Given the description of an element on the screen output the (x, y) to click on. 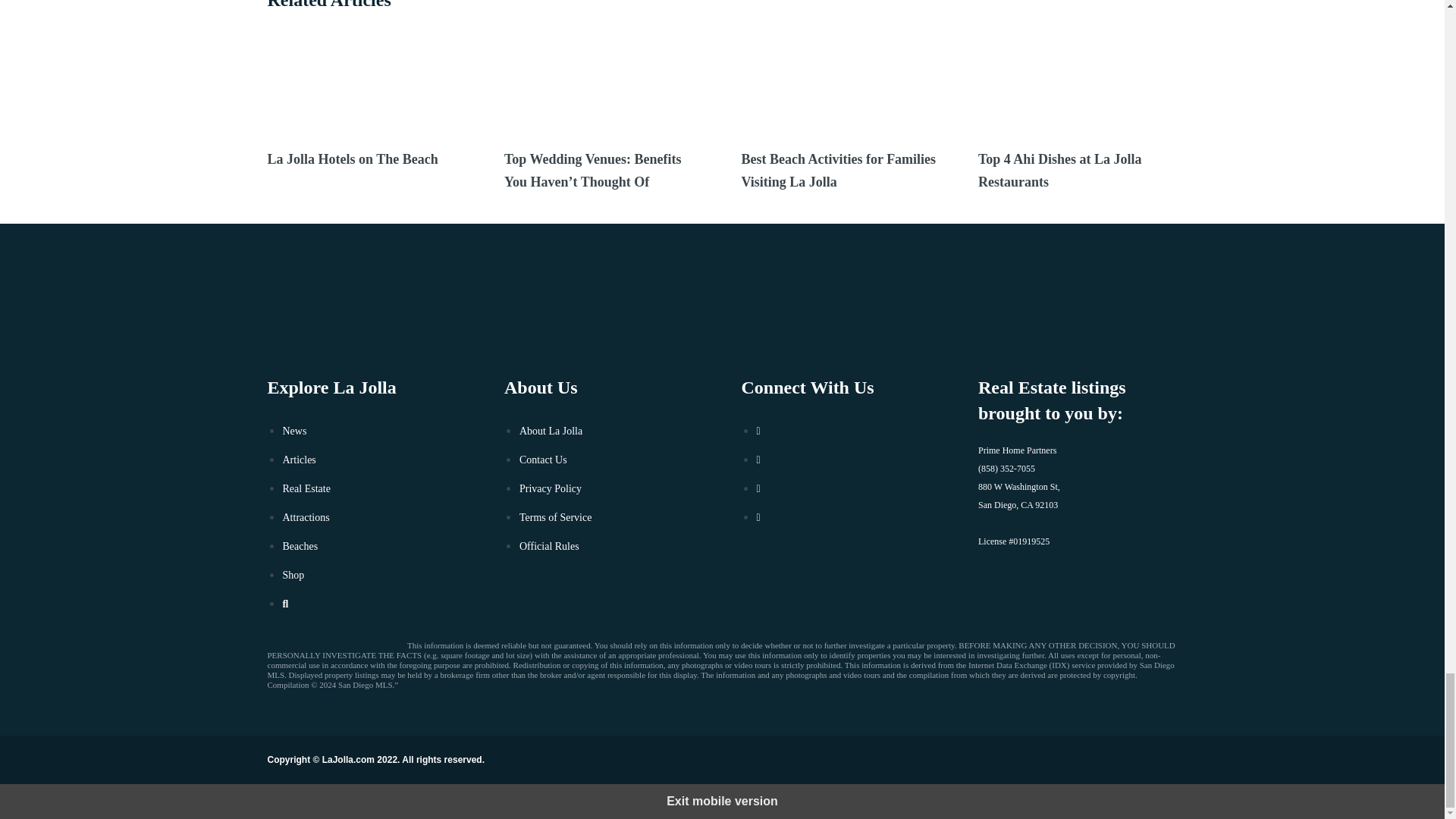
La Jolla Hotels on The Beach (365, 159)
